Given the description of an element on the screen output the (x, y) to click on. 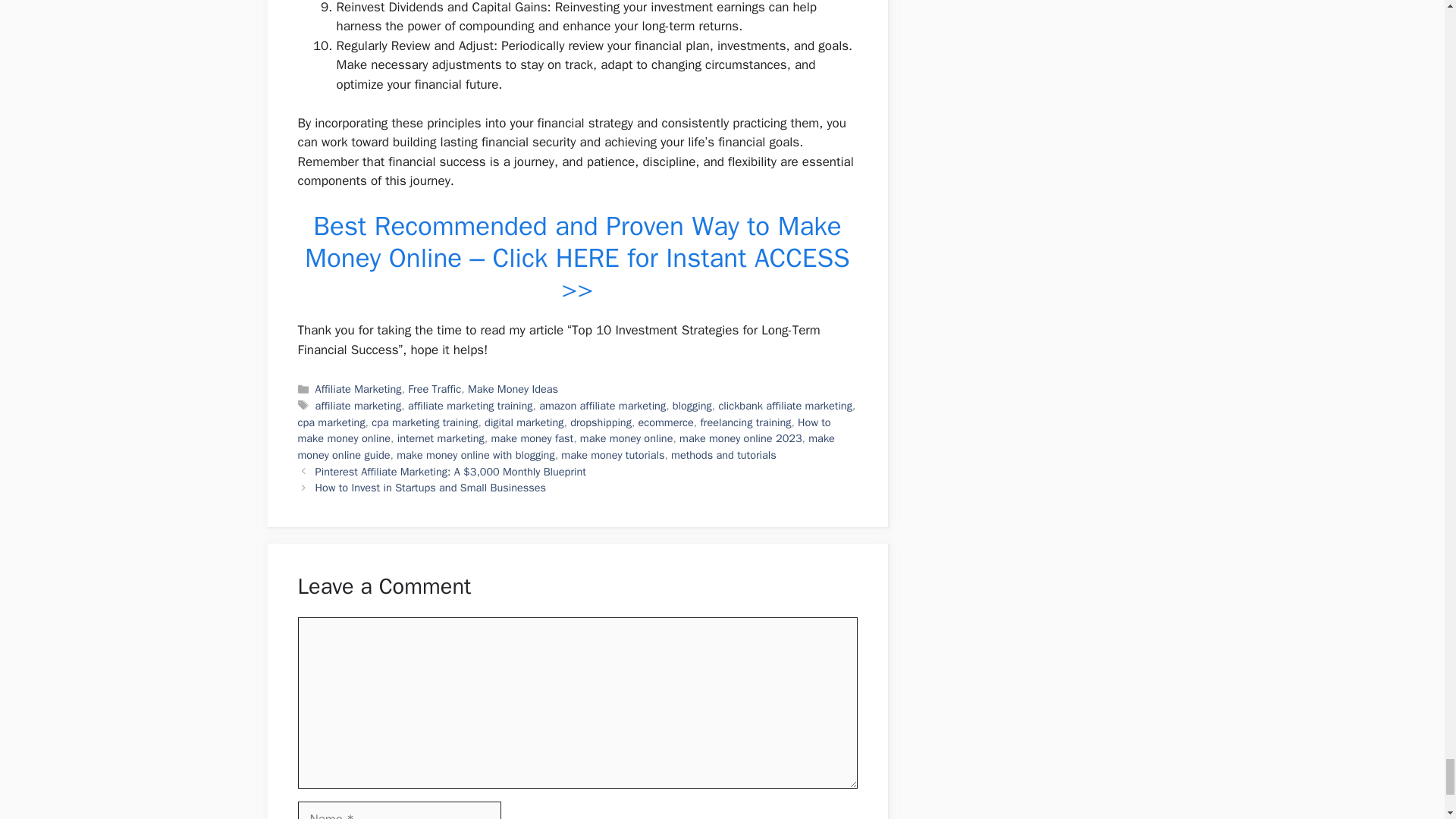
cpa marketing training (424, 422)
make money online with blogging (475, 454)
methods and tutorials (723, 454)
affiliate marketing training (469, 405)
ecommerce (666, 422)
cpa marketing (331, 422)
make money online 2023 (740, 438)
make money online (625, 438)
make money fast (531, 438)
freelancing training (745, 422)
